Given the description of an element on the screen output the (x, y) to click on. 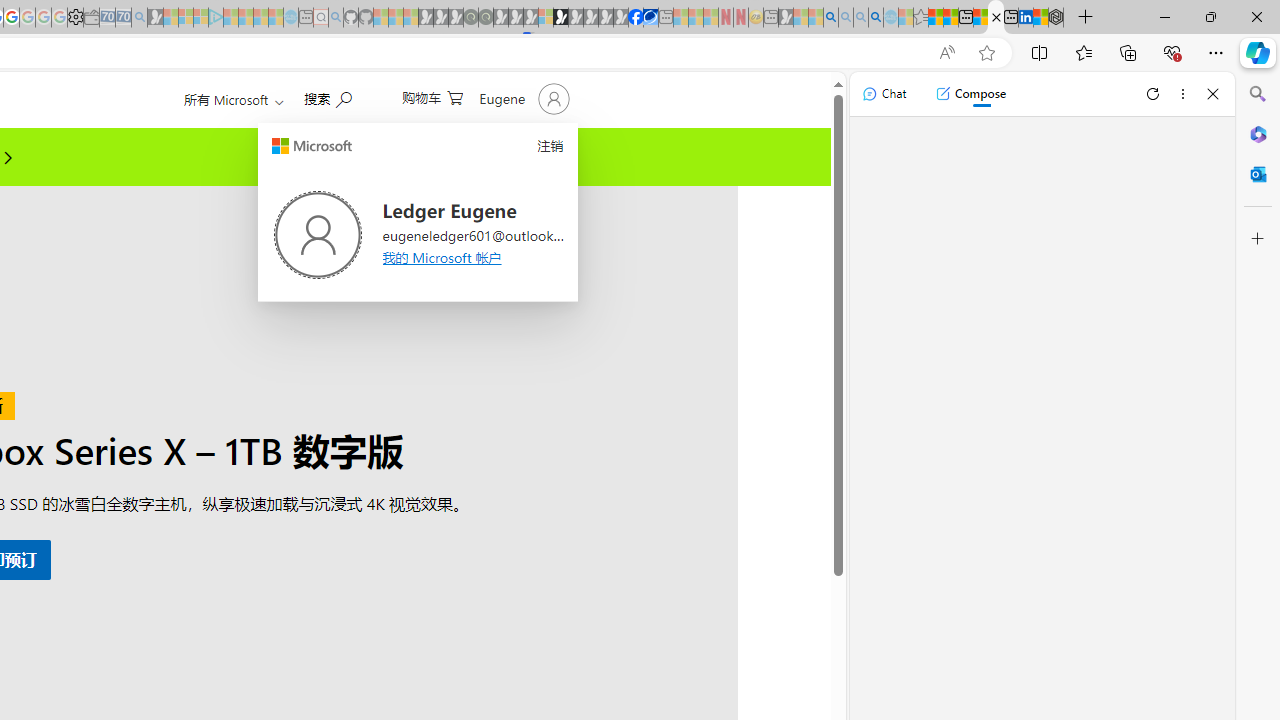
Read aloud this page (Ctrl+Shift+U) (946, 53)
Settings (75, 17)
New tab - Sleeping (771, 17)
Microsoft 365 (1258, 133)
Add this page to favorites (Ctrl+D) (986, 53)
Browser essentials (1171, 52)
Favorites (1083, 52)
